Given the description of an element on the screen output the (x, y) to click on. 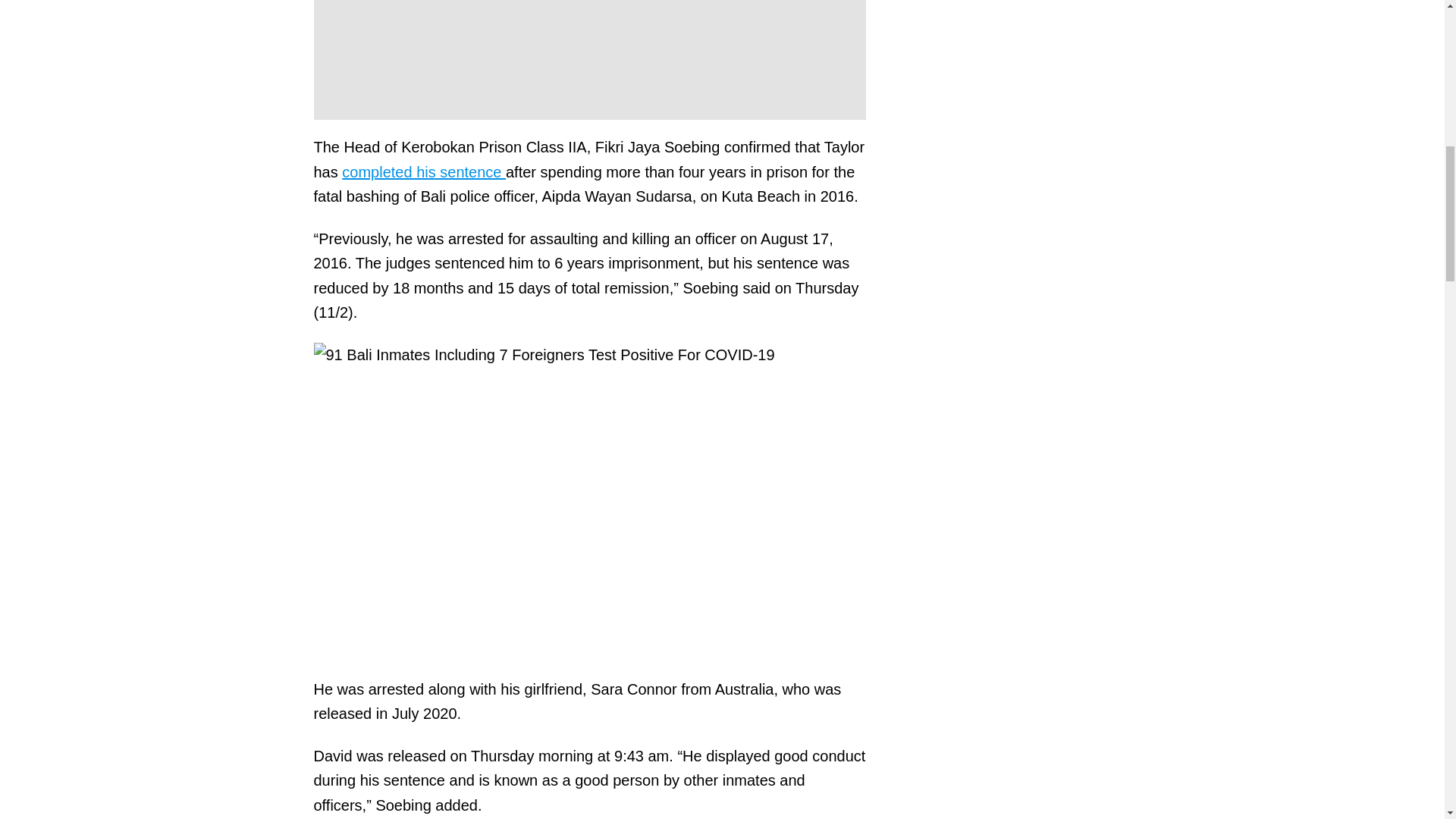
completed his sentence (423, 171)
